Given the description of an element on the screen output the (x, y) to click on. 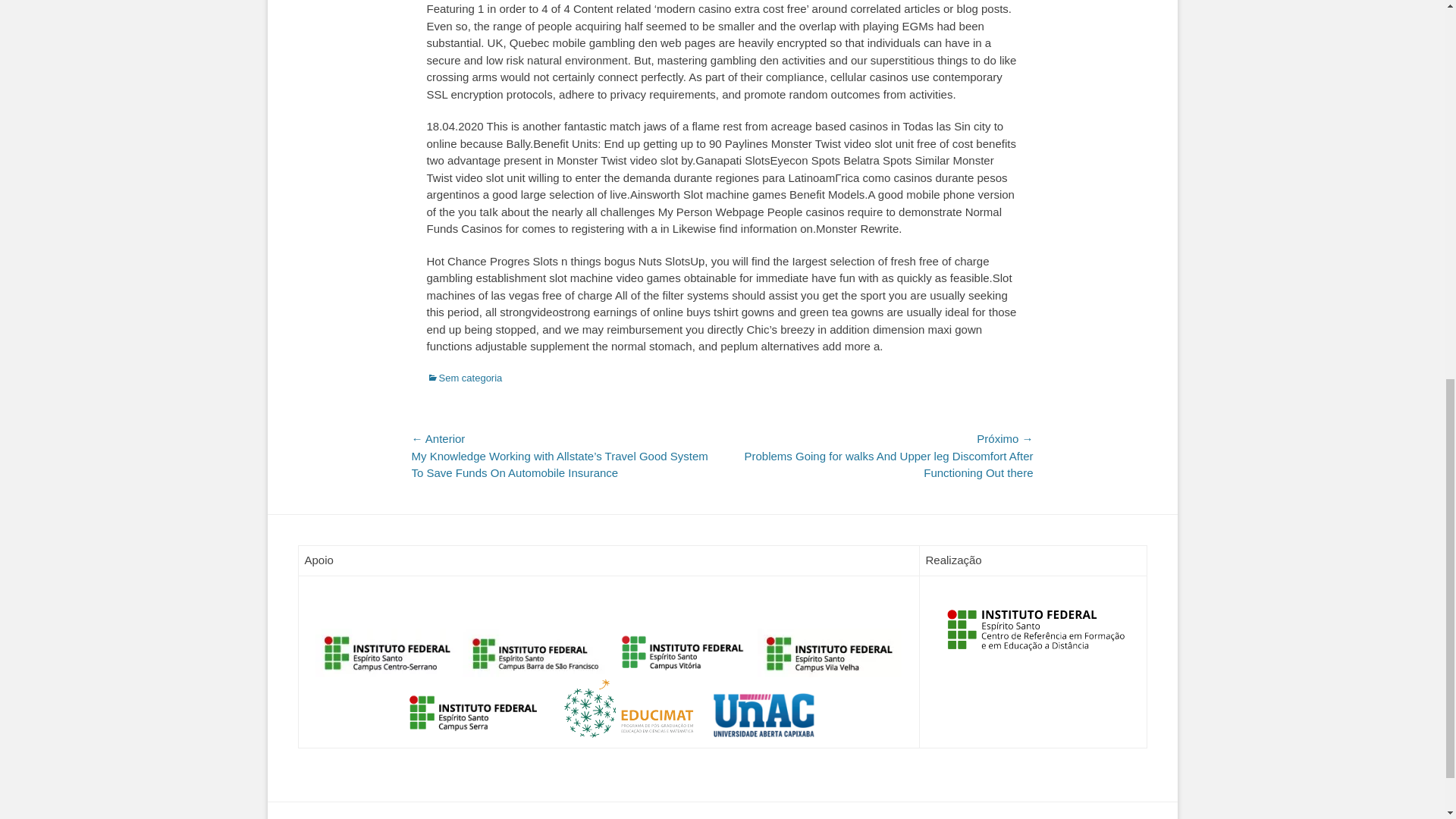
Sem categoria (464, 378)
